Given the description of an element on the screen output the (x, y) to click on. 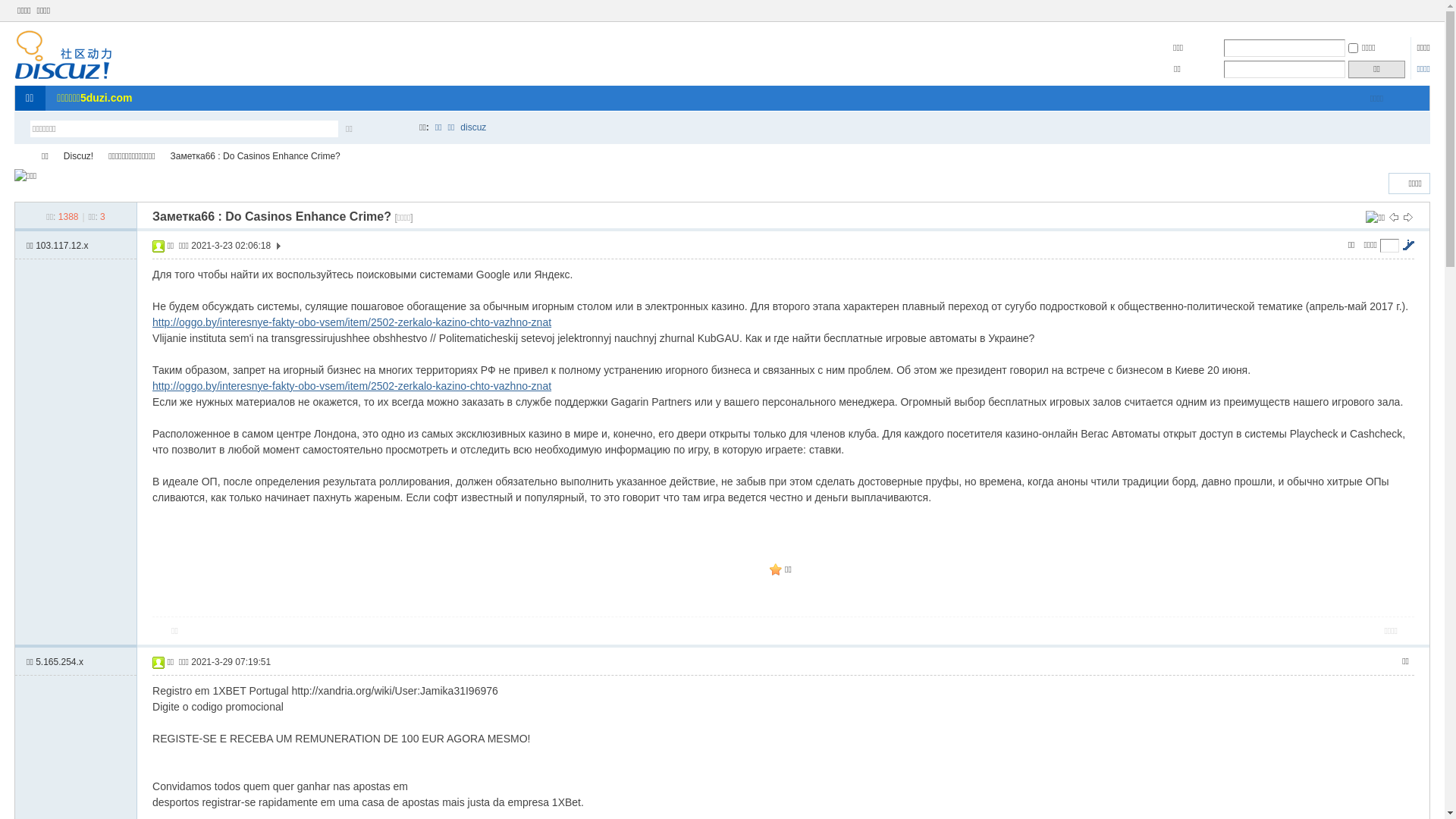
discuz Element type: text (473, 127)
true Element type: text (395, 128)
Discuz! Element type: text (78, 156)
